Given the description of an element on the screen output the (x, y) to click on. 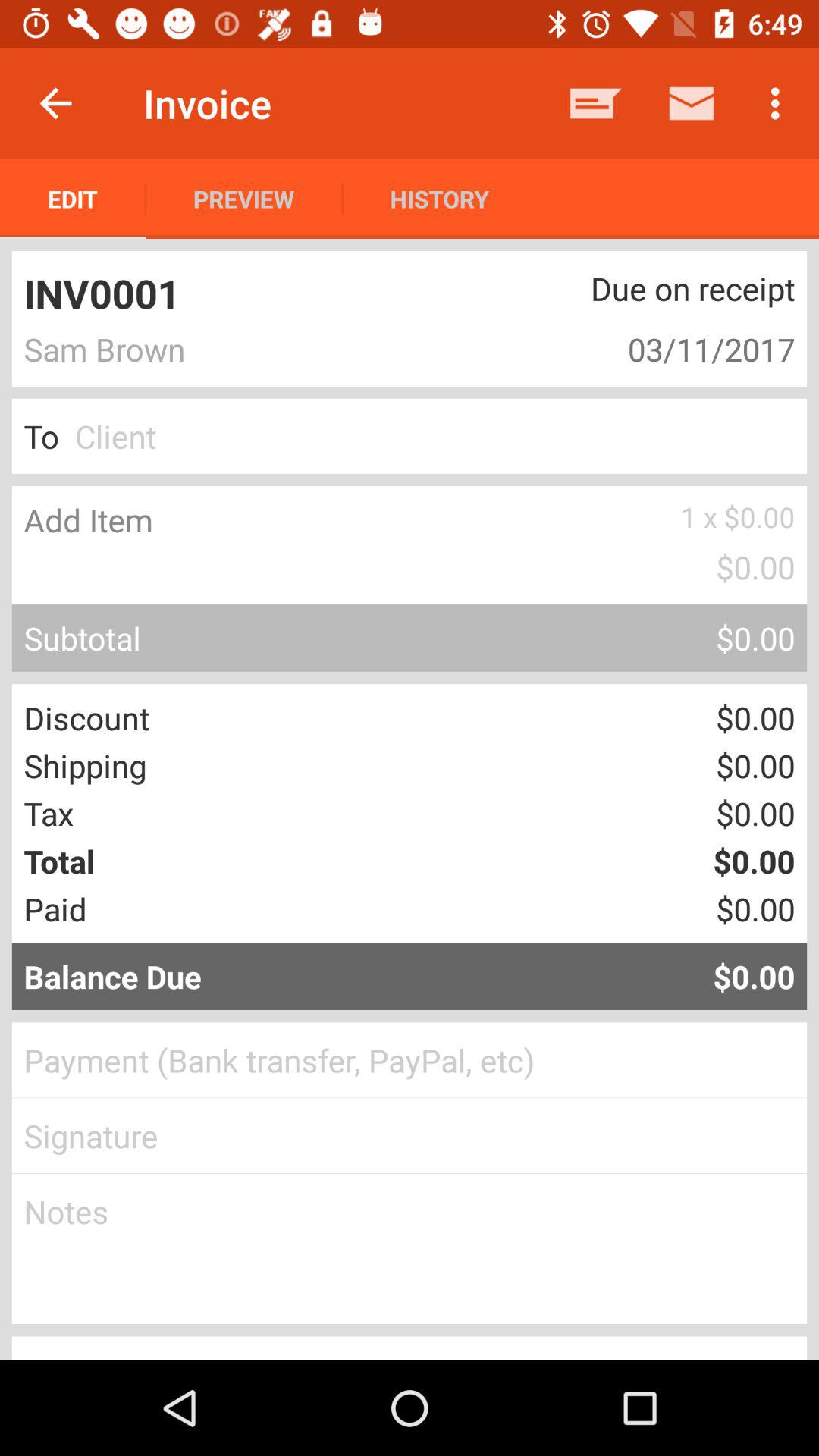
turn on the item next to the preview icon (439, 198)
